Given the description of an element on the screen output the (x, y) to click on. 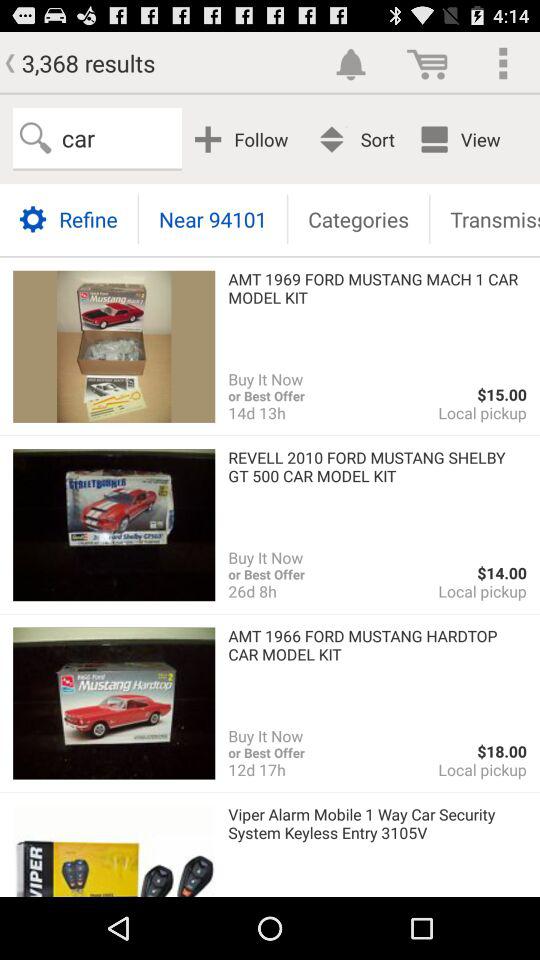
choose app to the right of car app (244, 138)
